Given the description of an element on the screen output the (x, y) to click on. 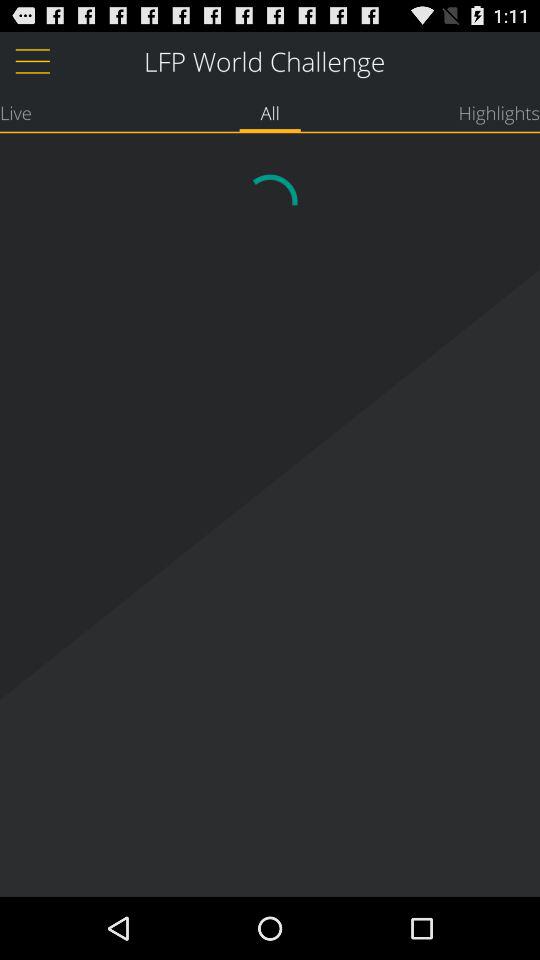
launch the highlights (499, 112)
